Given the description of an element on the screen output the (x, y) to click on. 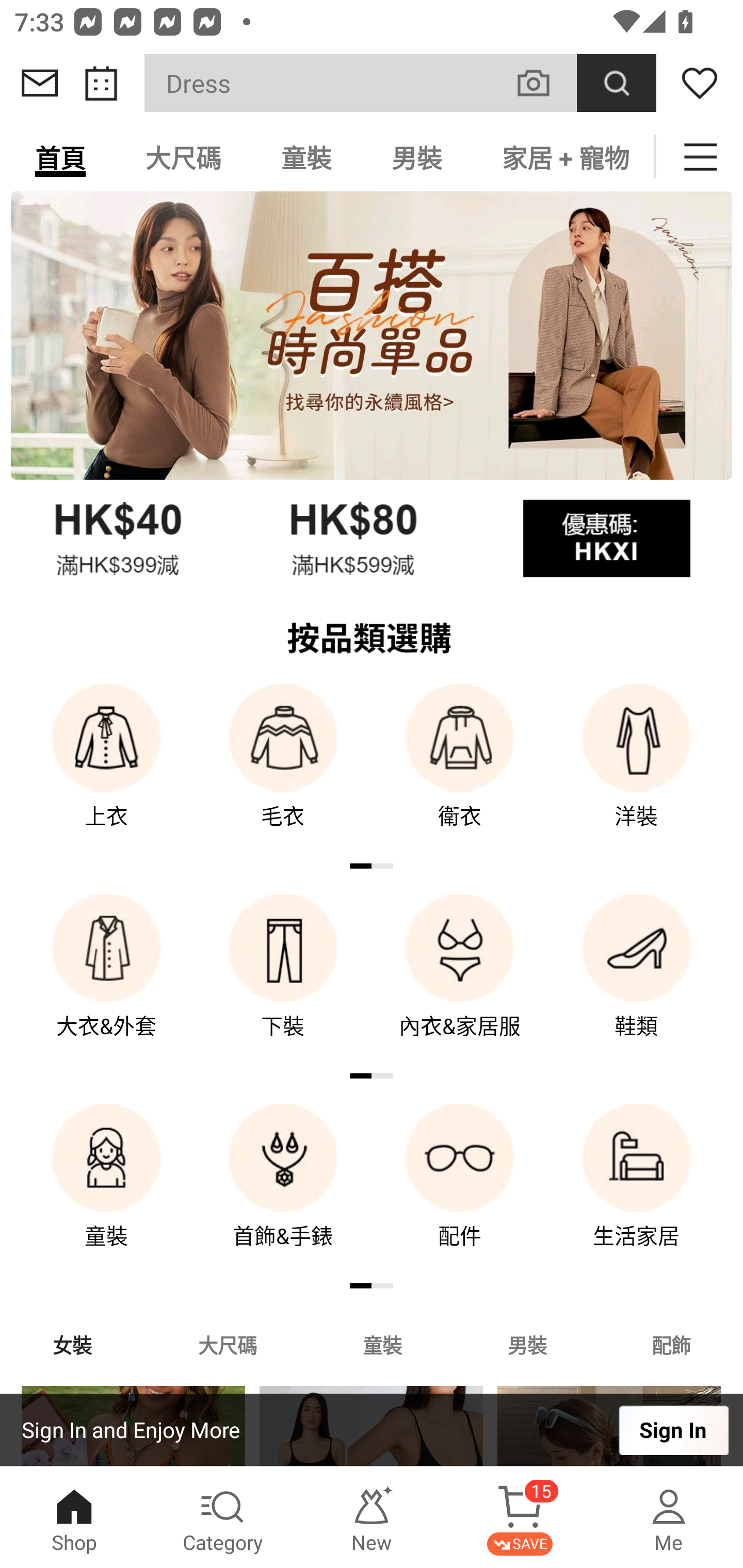
Wishlist (699, 82)
VISUAL SEARCH (543, 82)
首頁 (60, 156)
大尺碼 (183, 156)
童裝 (306, 156)
男裝 (416, 156)
家居 + 寵物 (563, 156)
上衣 (105, 769)
毛衣 (282, 769)
衛衣 (459, 769)
洋裝 (636, 769)
大衣&外套 (105, 979)
下裝 (282, 979)
內衣&家居服 (459, 979)
鞋類 (636, 979)
童裝 (105, 1189)
首飾&手錶 (282, 1189)
配件 (459, 1189)
生活家居 (636, 1189)
女裝 (72, 1344)
大尺碼 (226, 1344)
童裝 (381, 1344)
男裝 (527, 1344)
配飾 (671, 1344)
Sign In and Enjoy More Sign In (371, 1429)
Category (222, 1517)
New (371, 1517)
Cart 15 SAVE (519, 1517)
Me (668, 1517)
